Given the description of an element on the screen output the (x, y) to click on. 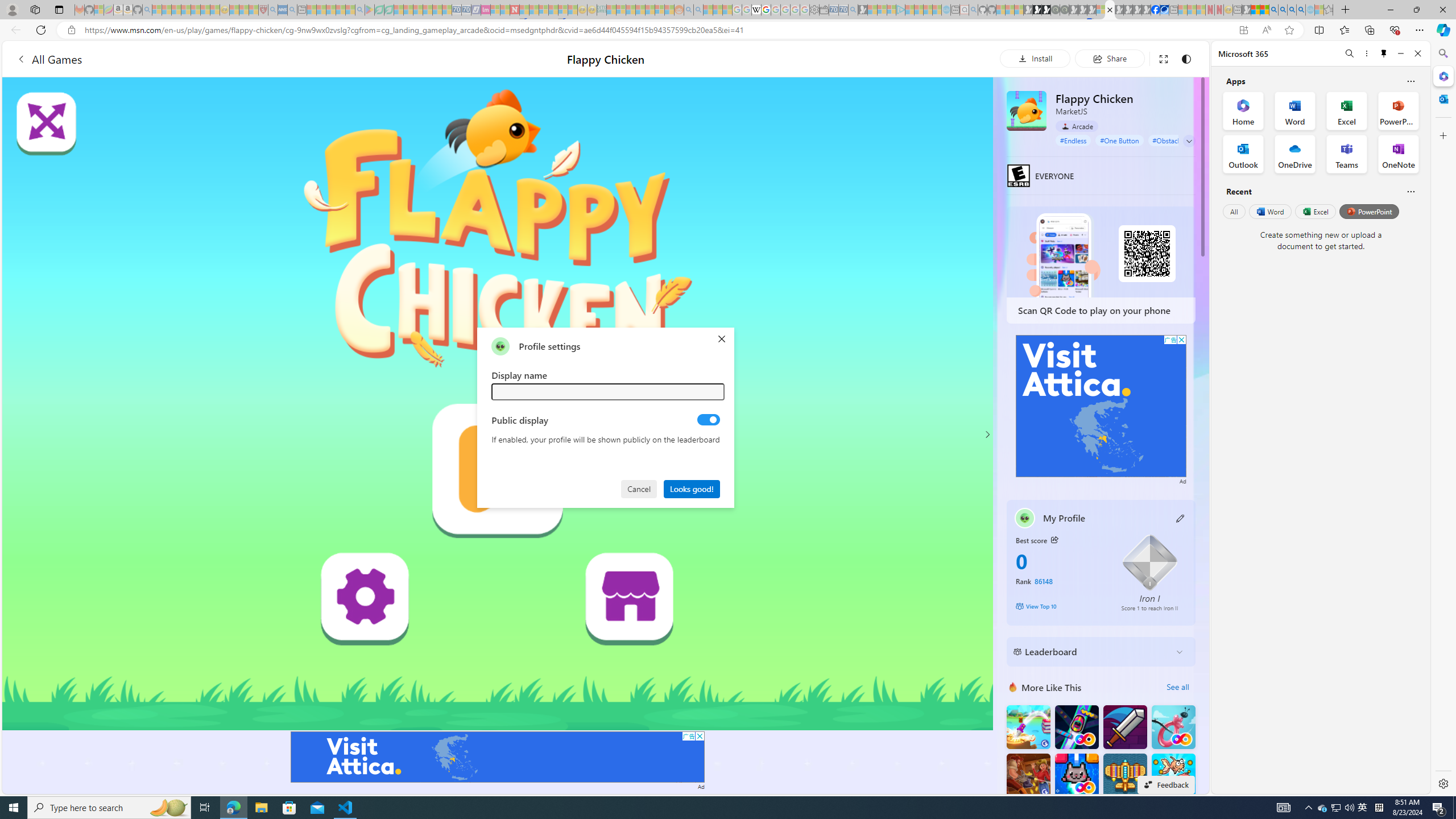
Class: button (1053, 539)
Atlantic Sky Hunter (1124, 775)
Close Microsoft 365 pane (1442, 76)
See all (1177, 687)
Google Chrome Internet Browser Download - Search Images (1300, 9)
Add this page to favorites (Ctrl+D) (1289, 29)
Restore (1416, 9)
Split screen (1318, 29)
Home | Sky Blue Bikes - Sky Blue Bikes - Sleeping (945, 9)
The Weather Channel - MSN - Sleeping (175, 9)
Arcade (1076, 125)
